Given the description of an element on the screen output the (x, y) to click on. 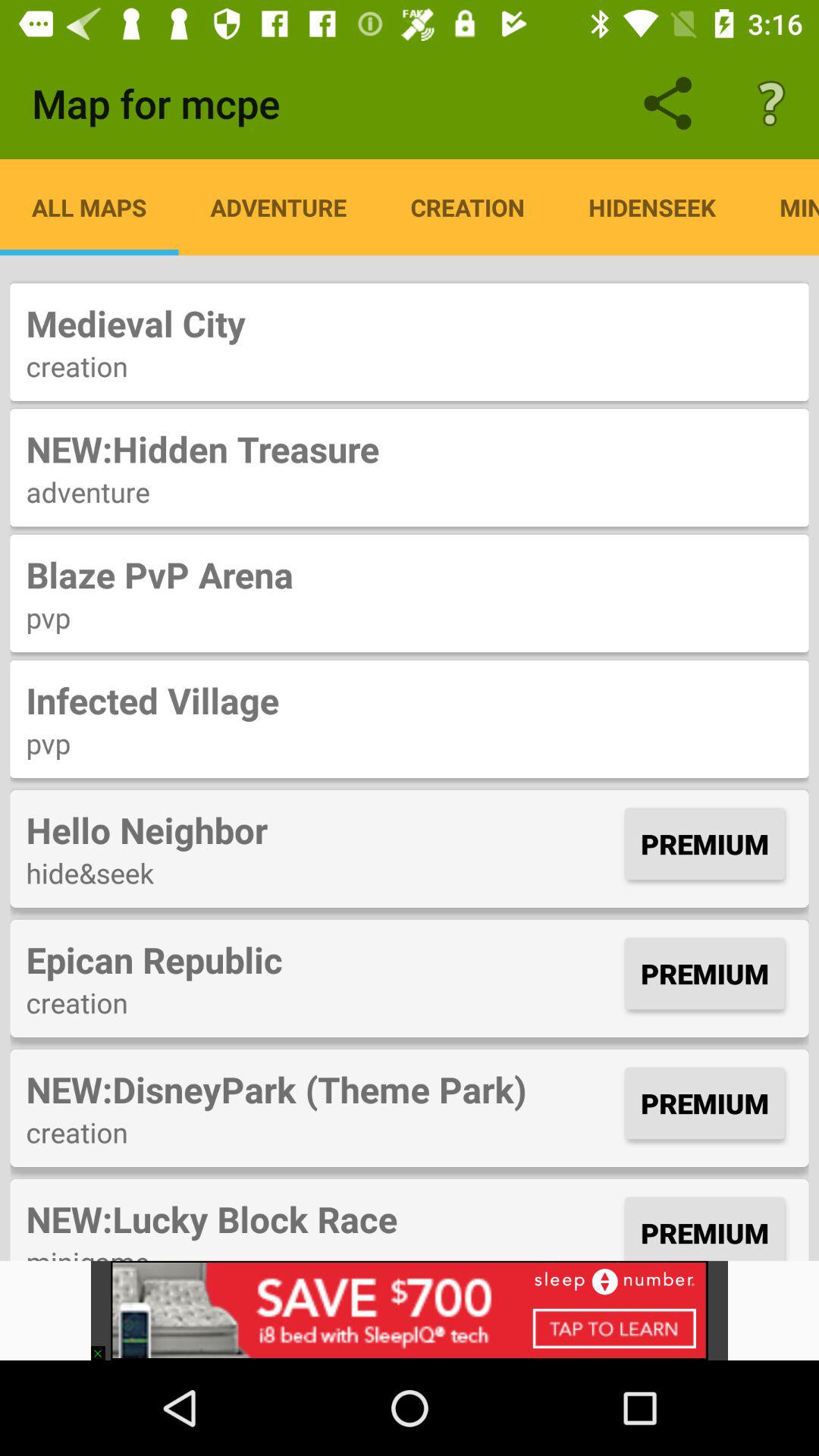
choose the app below the all maps app (409, 323)
